Given the description of an element on the screen output the (x, y) to click on. 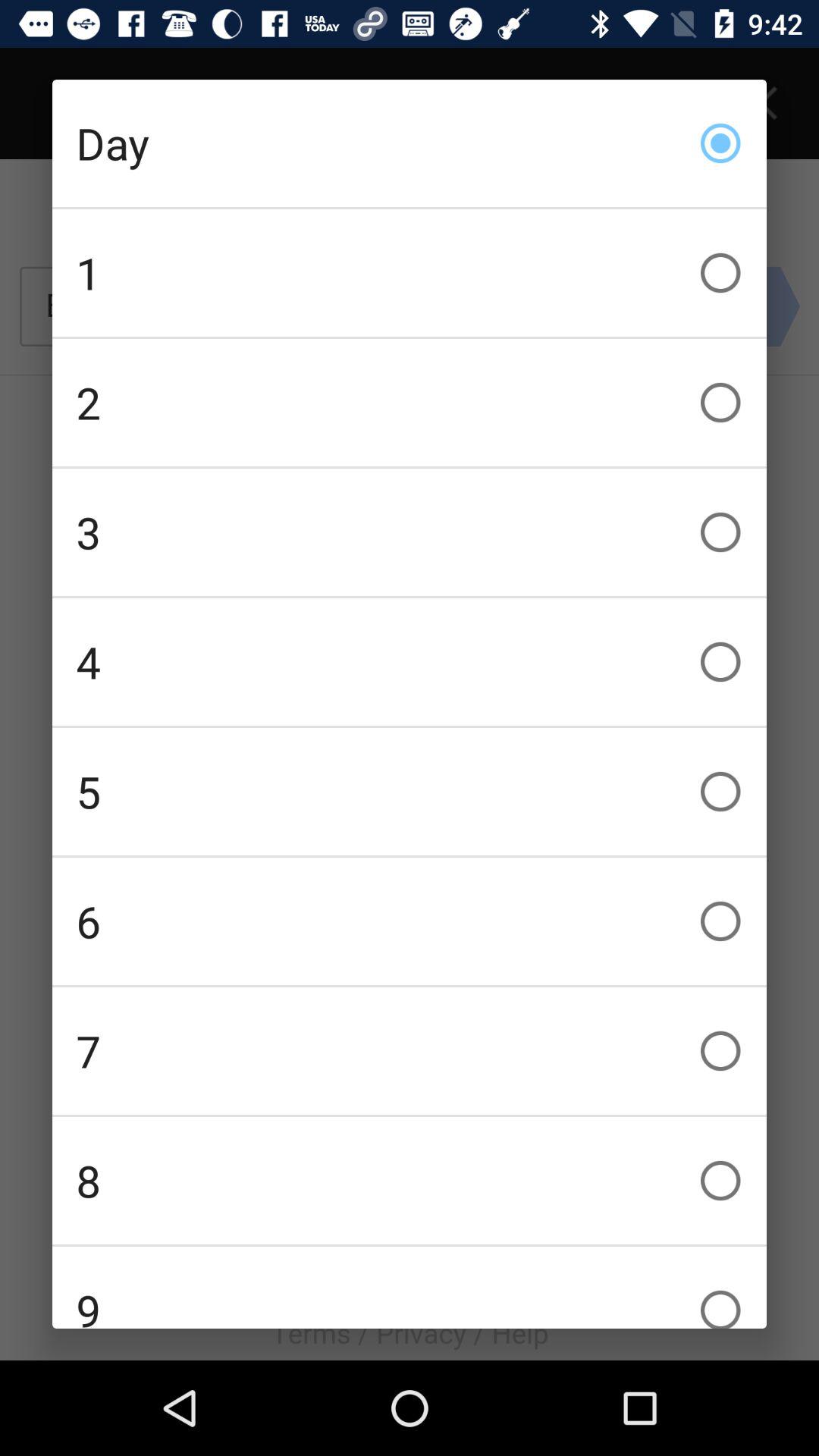
tap item above 7 checkbox (409, 921)
